Given the description of an element on the screen output the (x, y) to click on. 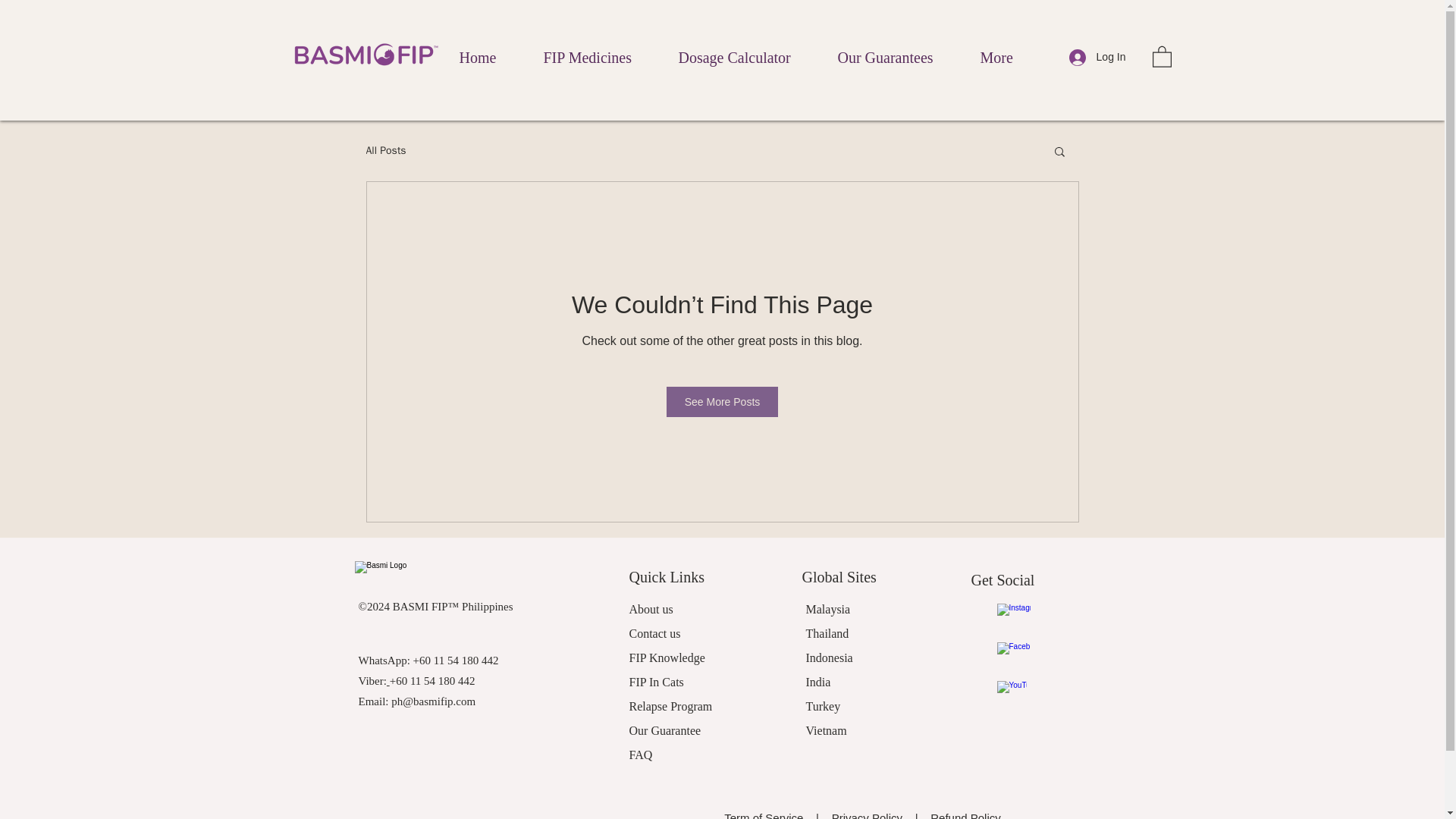
FAQ (640, 754)
FIP Knowledge (666, 657)
Turkey (822, 706)
2024 Basmi FIP Logo PNG-01.png (439, 576)
See More Posts (722, 401)
Term of Service   (766, 815)
FIP In Cats (656, 681)
Contact us (654, 633)
Dosage Calculator (749, 56)
All Posts (385, 151)
Refund Policy (965, 815)
Indonesia (828, 657)
Log In (1097, 57)
Our Guarantee (664, 730)
Vietnam (825, 730)
